Given the description of an element on the screen output the (x, y) to click on. 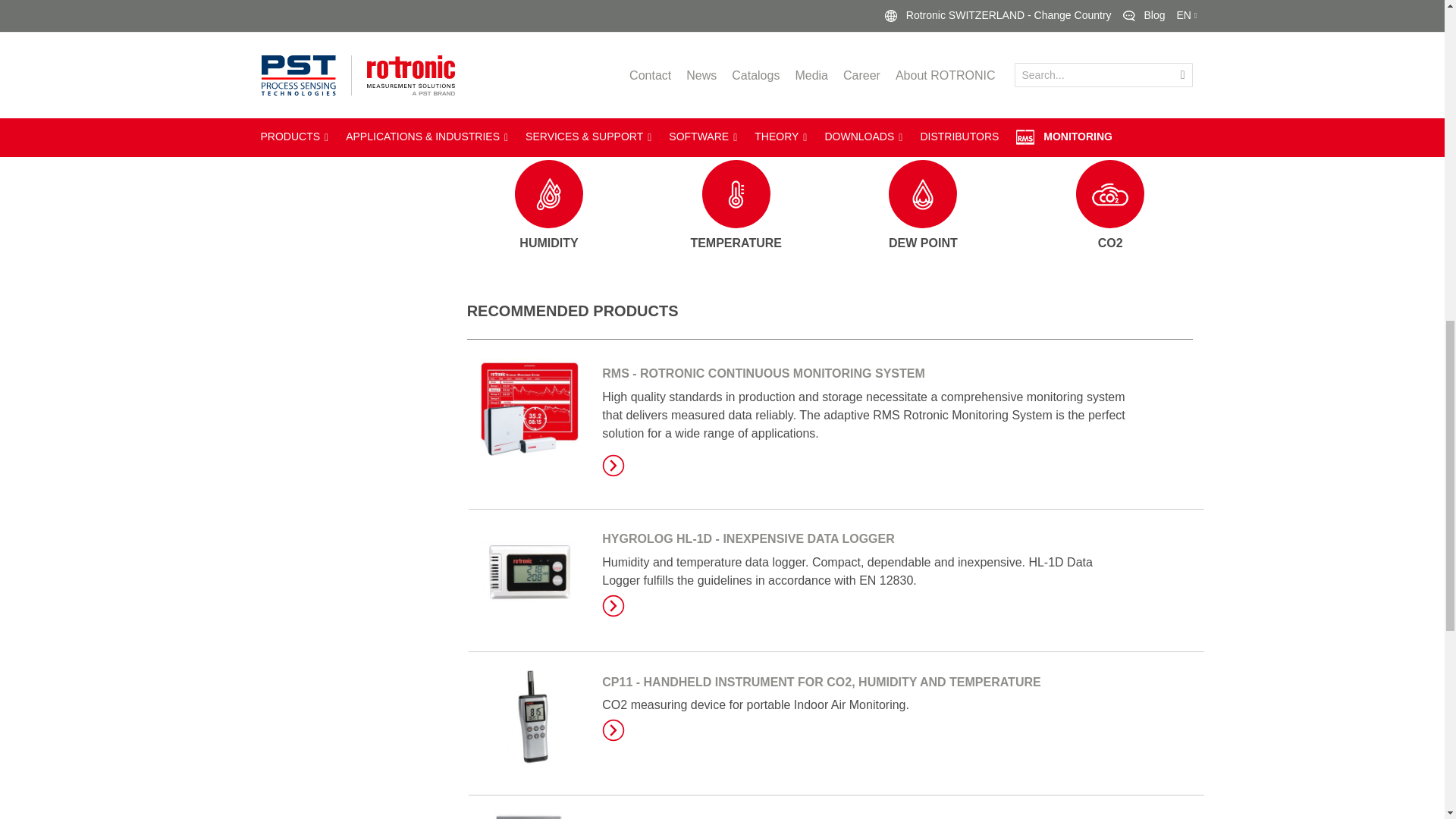
CP11 - Handheld Instrument for CO2, Humidity and Temperature (613, 730)
CP11 - Handheld Instrument for CO2, Humidity and Temperature (821, 681)
 RMS - ROTRONIC CONTINUOUS MONITORING SYSTEM (763, 373)
 RMS - ROTRONIC CONTINUOUS MONITORING SYSTEM (613, 465)
HygroLog HL-1D - INEXPENSIVE DATA LOGGER (613, 605)
HygroLog HL-1D - INEXPENSIVE DATA LOGGER (748, 538)
